Given the description of an element on the screen output the (x, y) to click on. 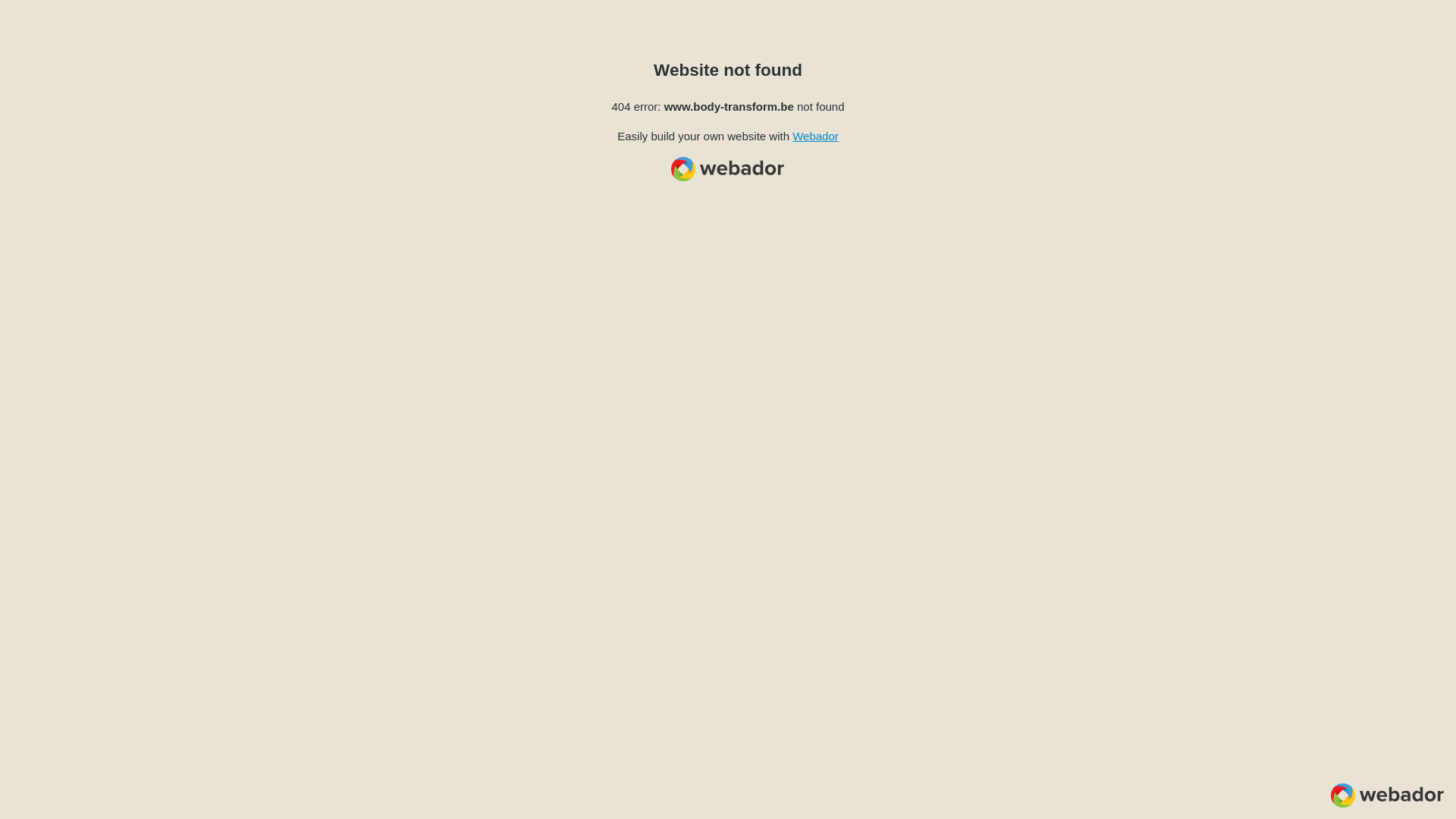
Webador Element type: text (815, 135)
